Given the description of an element on the screen output the (x, y) to click on. 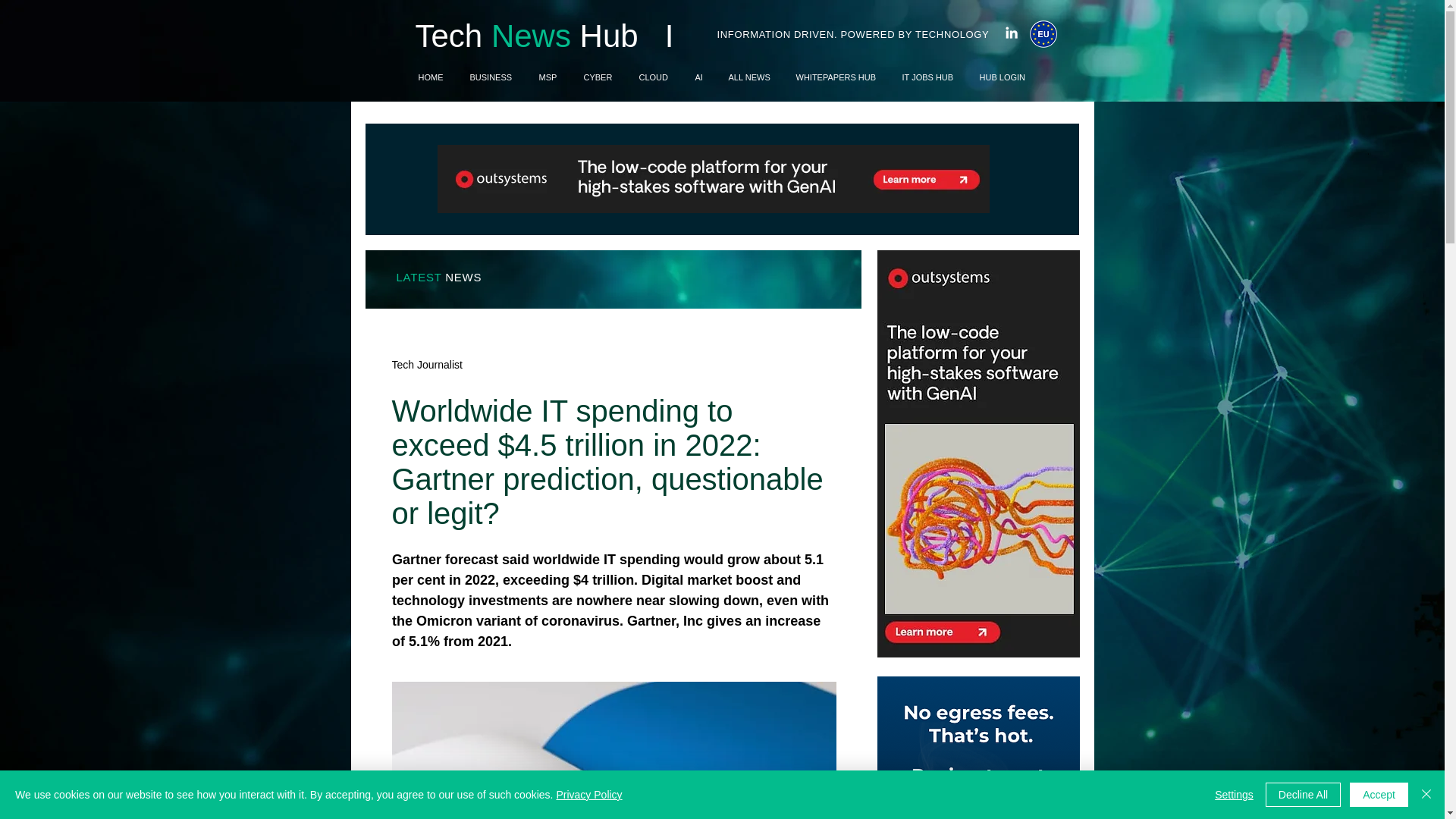
Tech News Hub   I (544, 36)
CLOUD (655, 77)
IT JOBS HUB (928, 77)
Tech Journalist (426, 364)
BUSINESS (492, 77)
AI (700, 77)
MSP (549, 77)
CYBER (599, 77)
WHITEPAPERS HUB (836, 77)
HUB LOGIN (1003, 77)
